Given the description of an element on the screen output the (x, y) to click on. 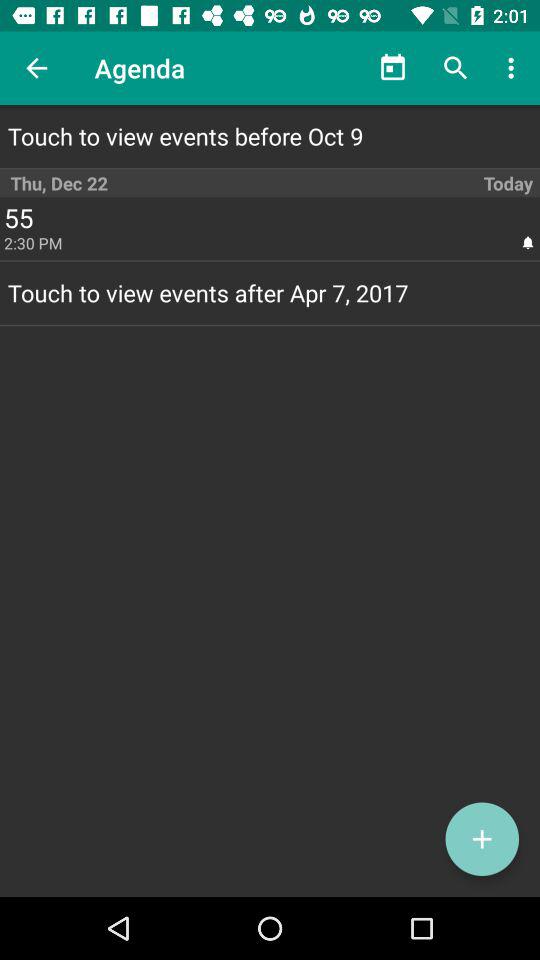
add event (482, 839)
